Given the description of an element on the screen output the (x, y) to click on. 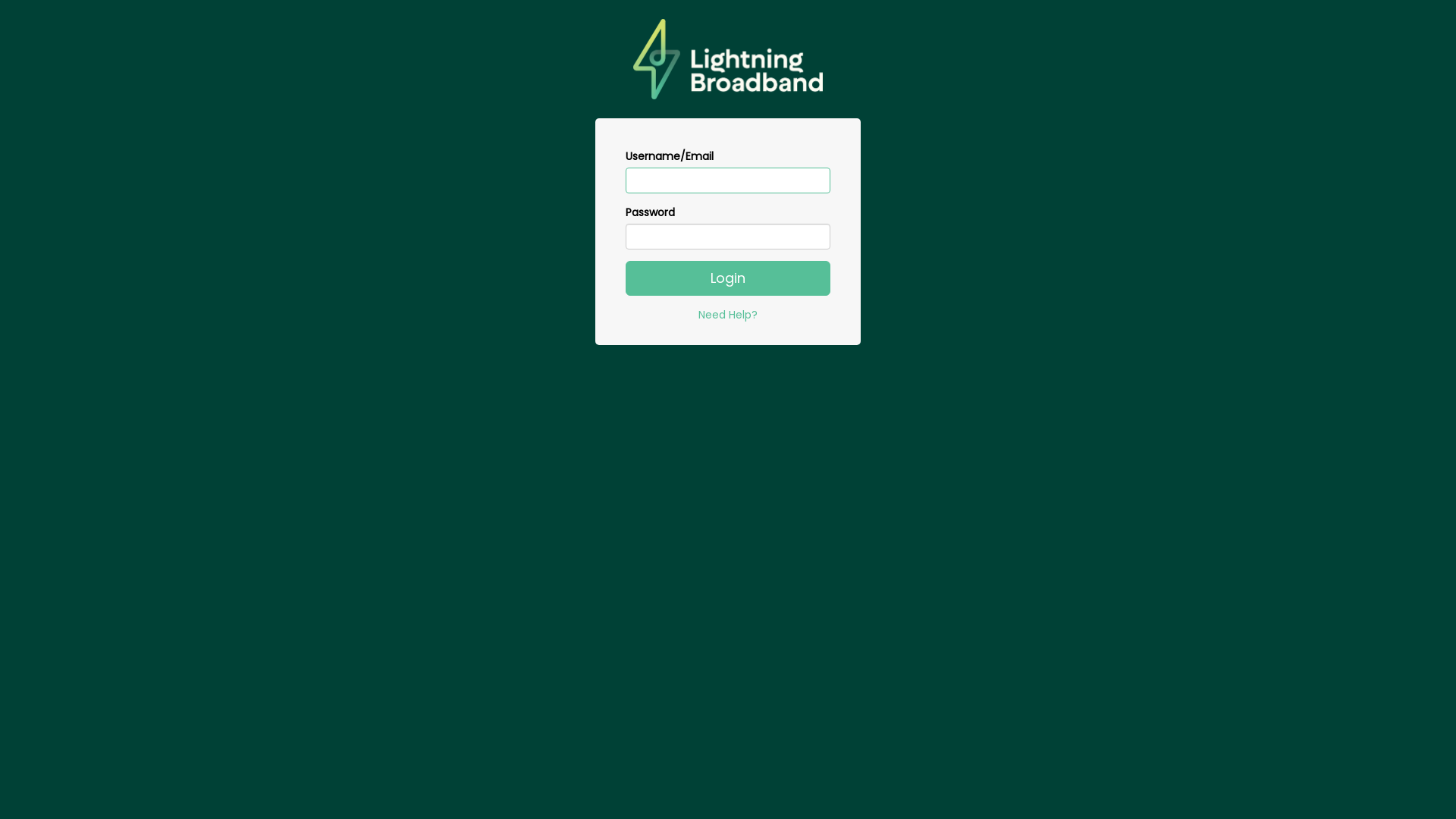
Login Element type: text (727, 277)
Need Help? Element type: text (727, 314)
